Given the description of an element on the screen output the (x, y) to click on. 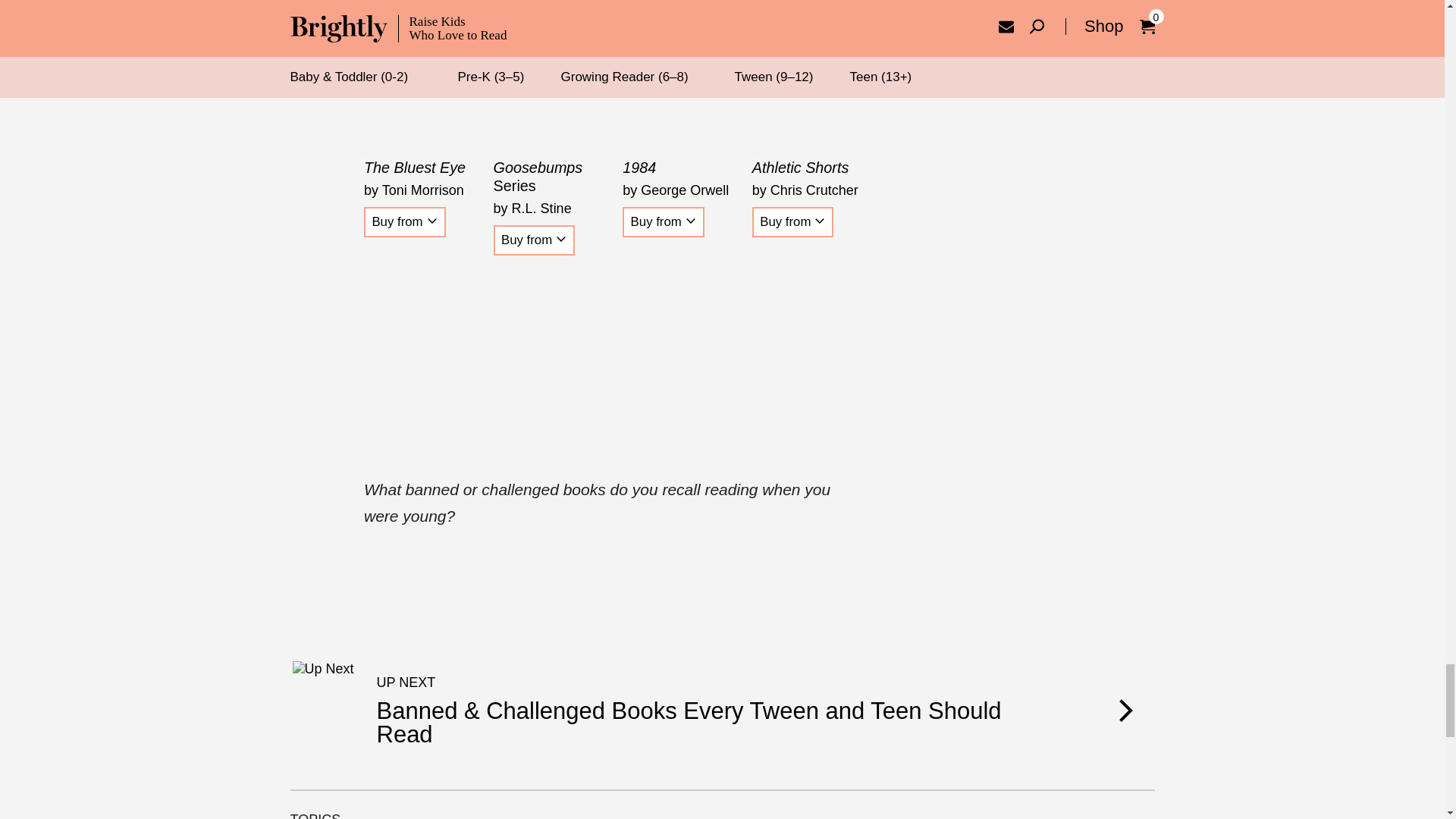
uniE601 (432, 220)
uniE601 (690, 220)
uniE601 (561, 238)
